Given the description of an element on the screen output the (x, y) to click on. 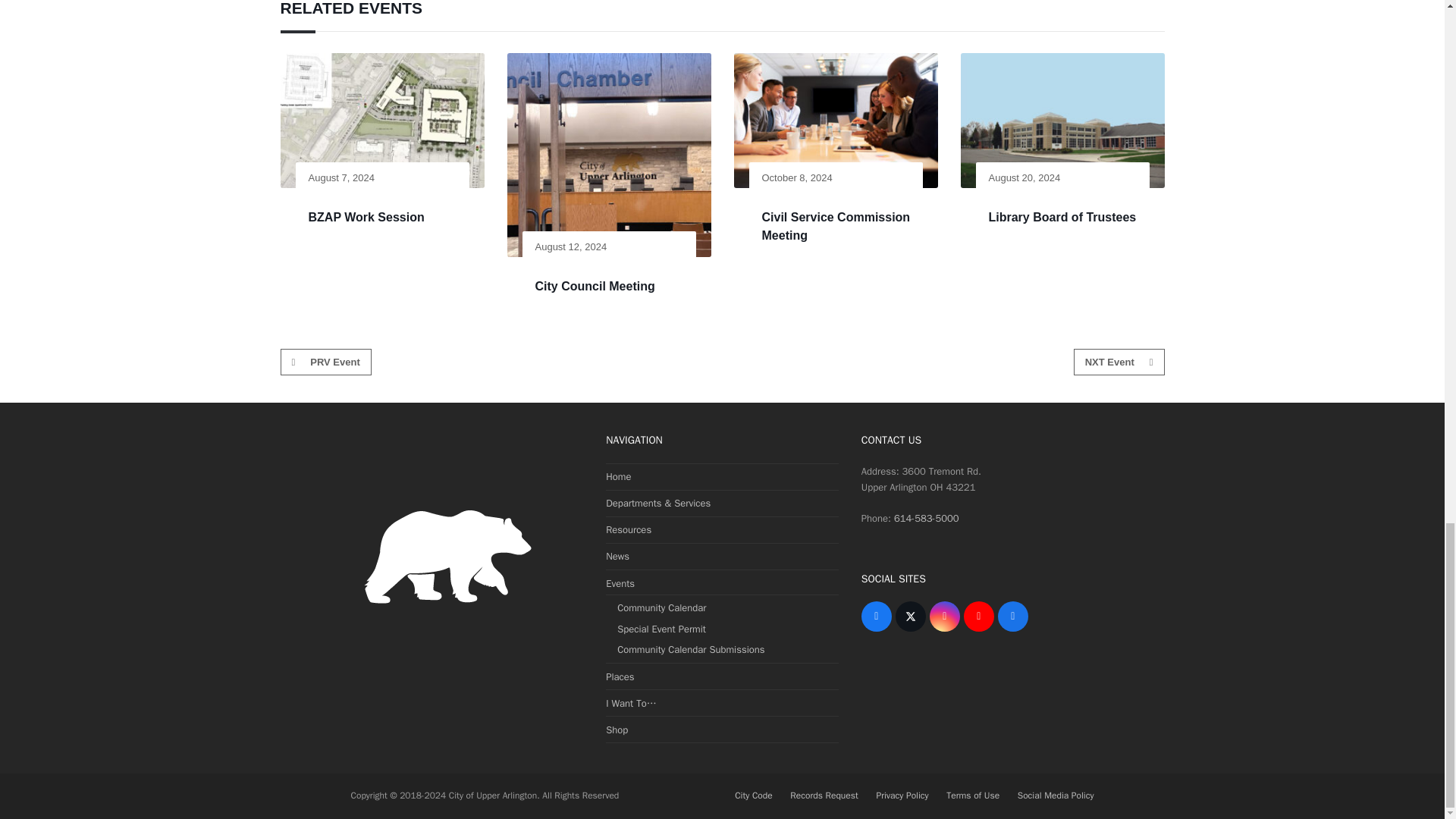
X Twitter (910, 616)
Facebook (876, 616)
Records Request (824, 795)
Nextdoor (1012, 616)
BZAP Work Session (365, 216)
Instagram (944, 616)
Library Board of Trustees (1062, 216)
City Council Meeting (595, 286)
YouTube (978, 616)
Civil Service Commission Meeting (835, 225)
